Given the description of an element on the screen output the (x, y) to click on. 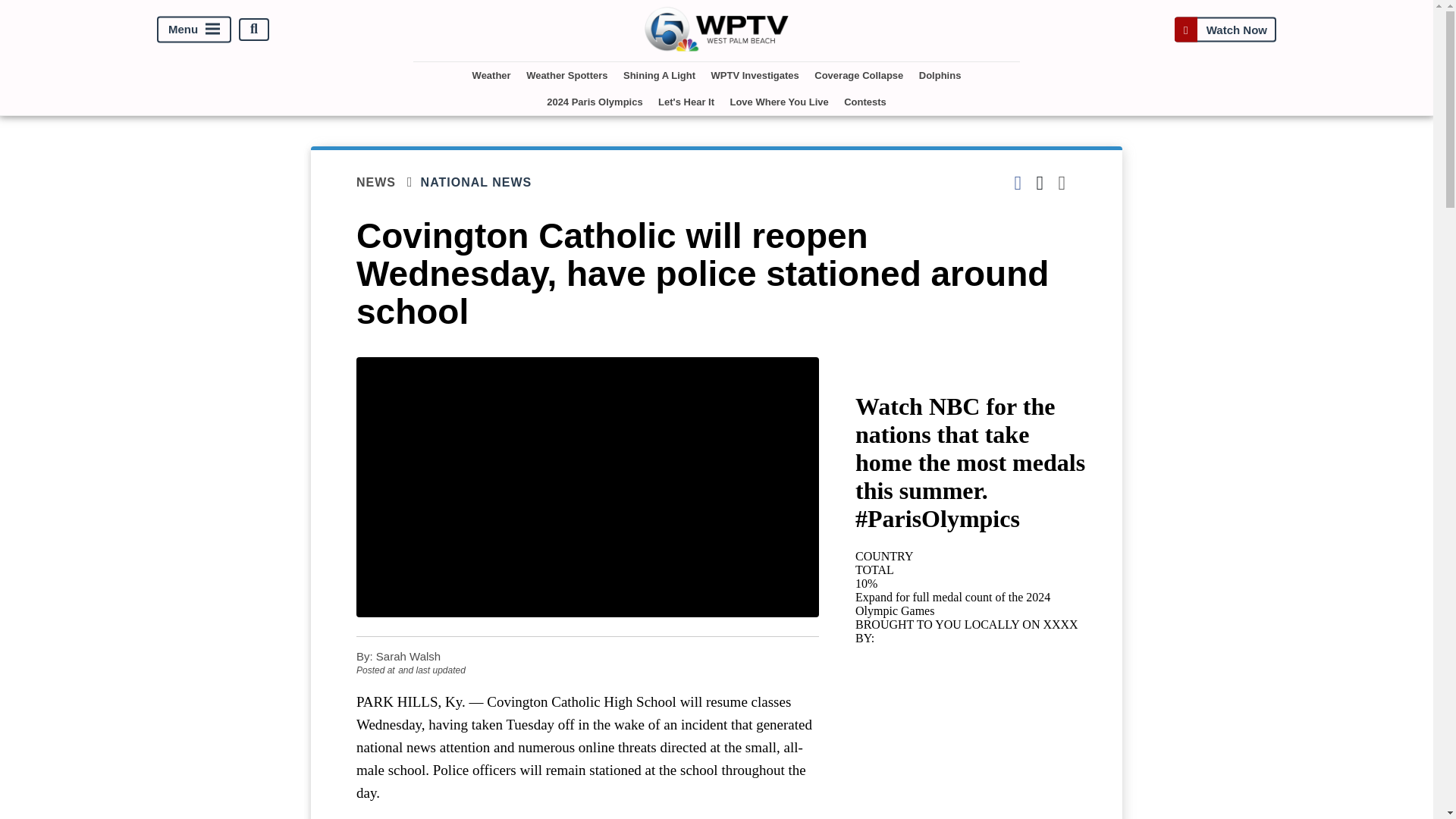
Watch Now (1224, 29)
Menu (194, 28)
